Given the description of an element on the screen output the (x, y) to click on. 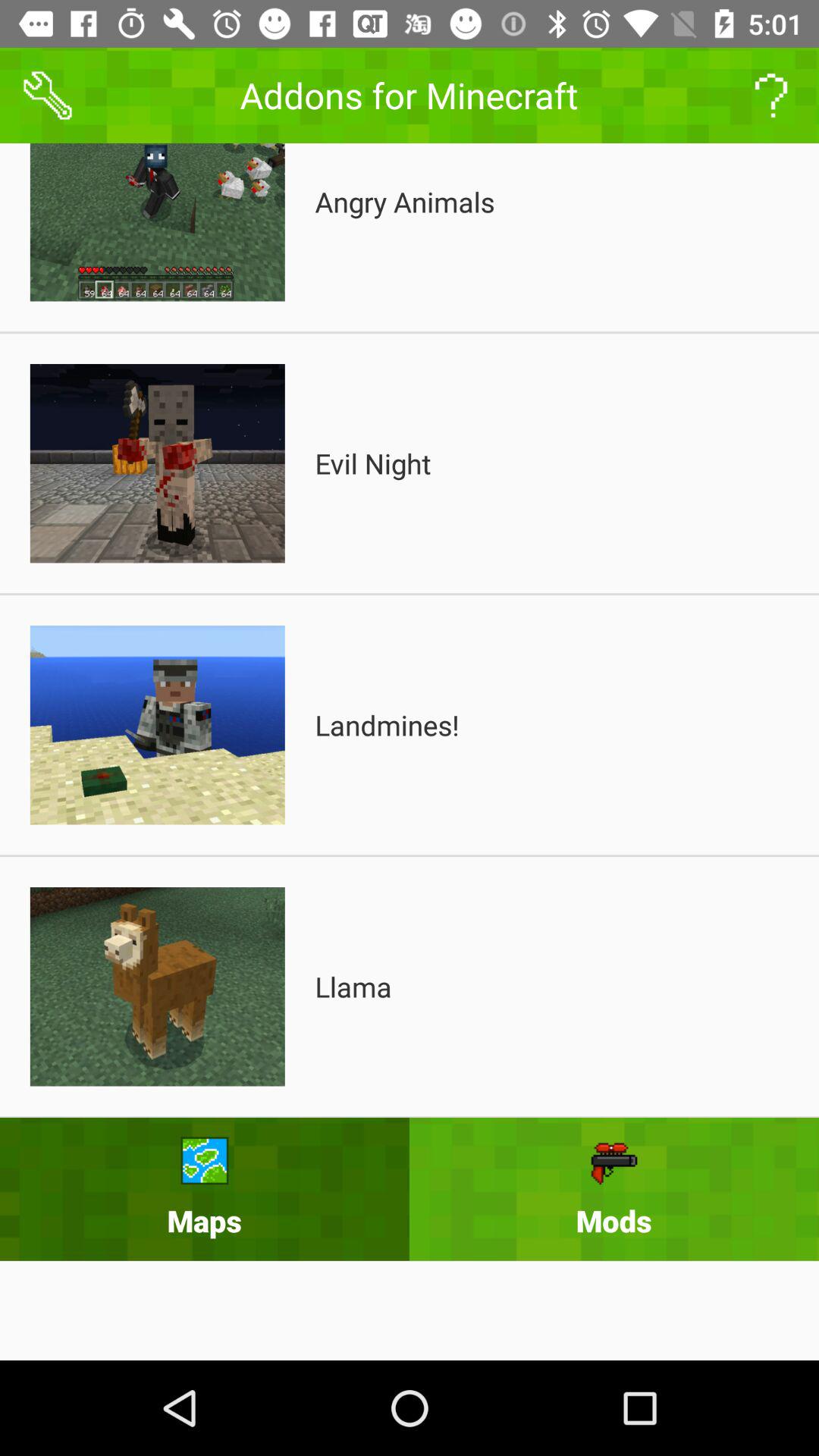
select icon above landmines! icon (373, 463)
